Given the description of an element on the screen output the (x, y) to click on. 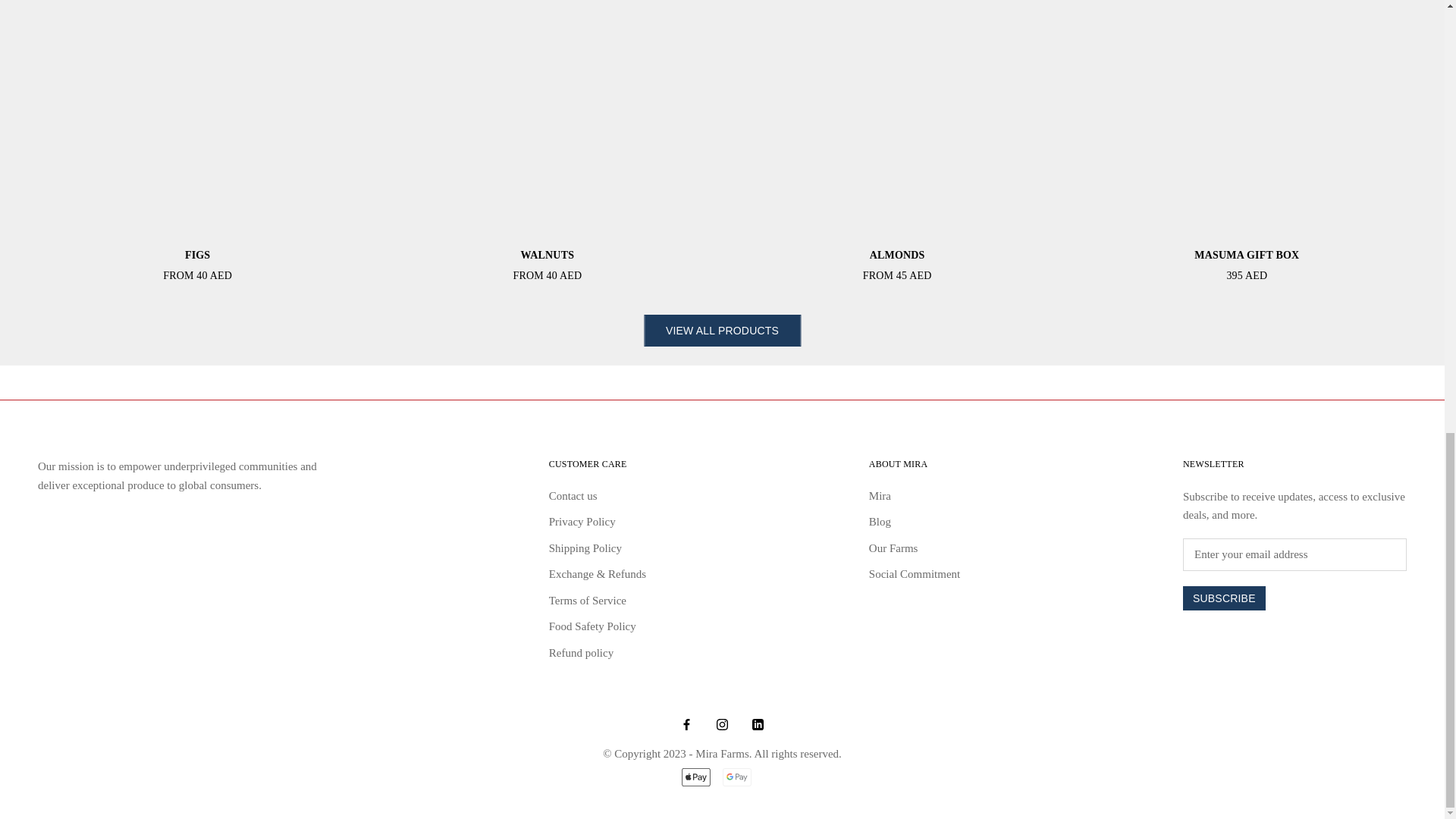
Google Pay (736, 777)
Apple Pay (695, 777)
